Given the description of an element on the screen output the (x, y) to click on. 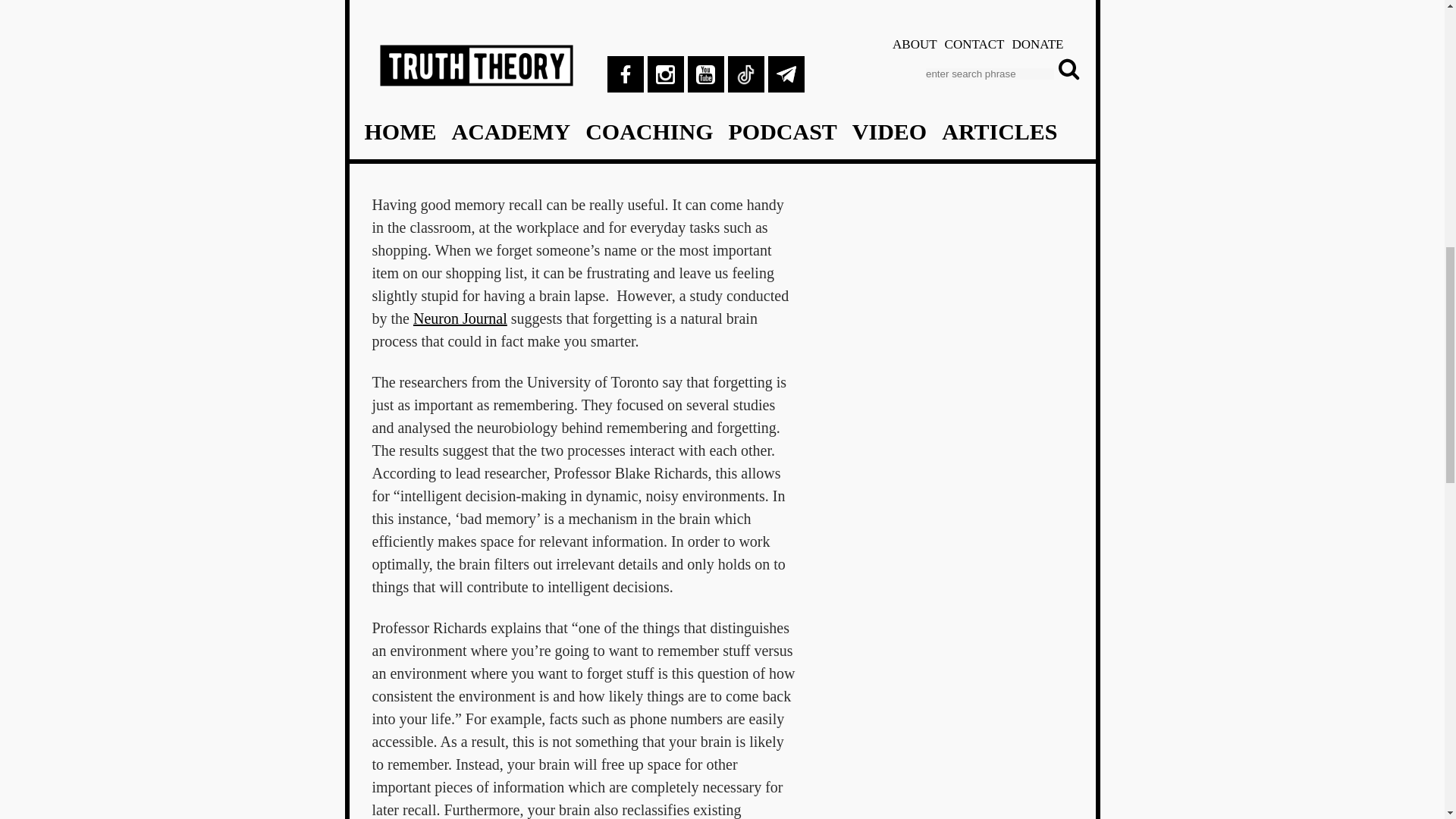
share (720, 14)
Play Video (583, 42)
